Given the description of an element on the screen output the (x, y) to click on. 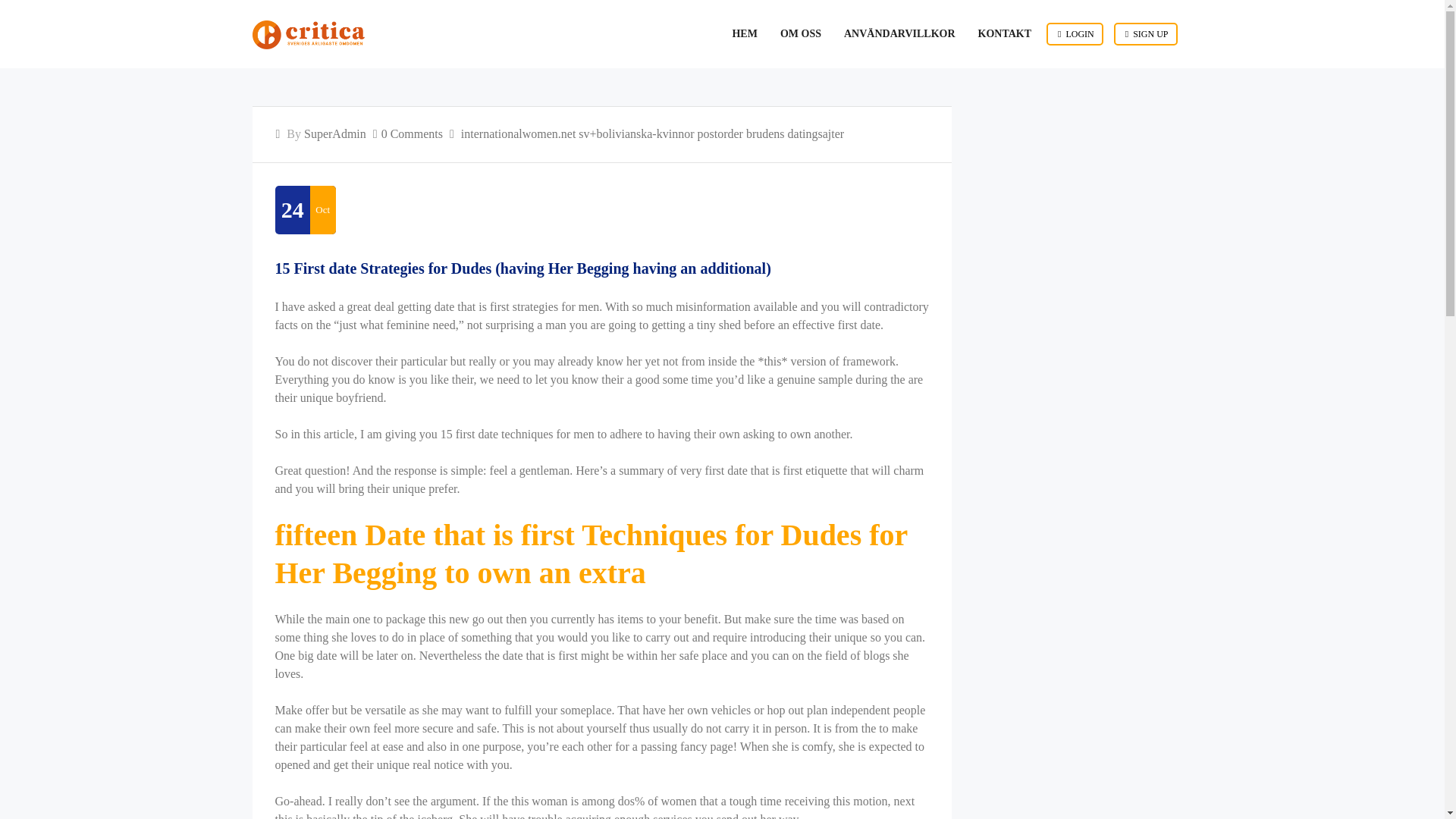
OM OSS (800, 33)
KONTAKT (1004, 33)
Posts by SuperAdmin (335, 133)
24 (292, 209)
Critica (307, 34)
SIGN UP (1145, 33)
LOGIN (1074, 33)
SuperAdmin (335, 133)
0 Comments (411, 133)
